Given the description of an element on the screen output the (x, y) to click on. 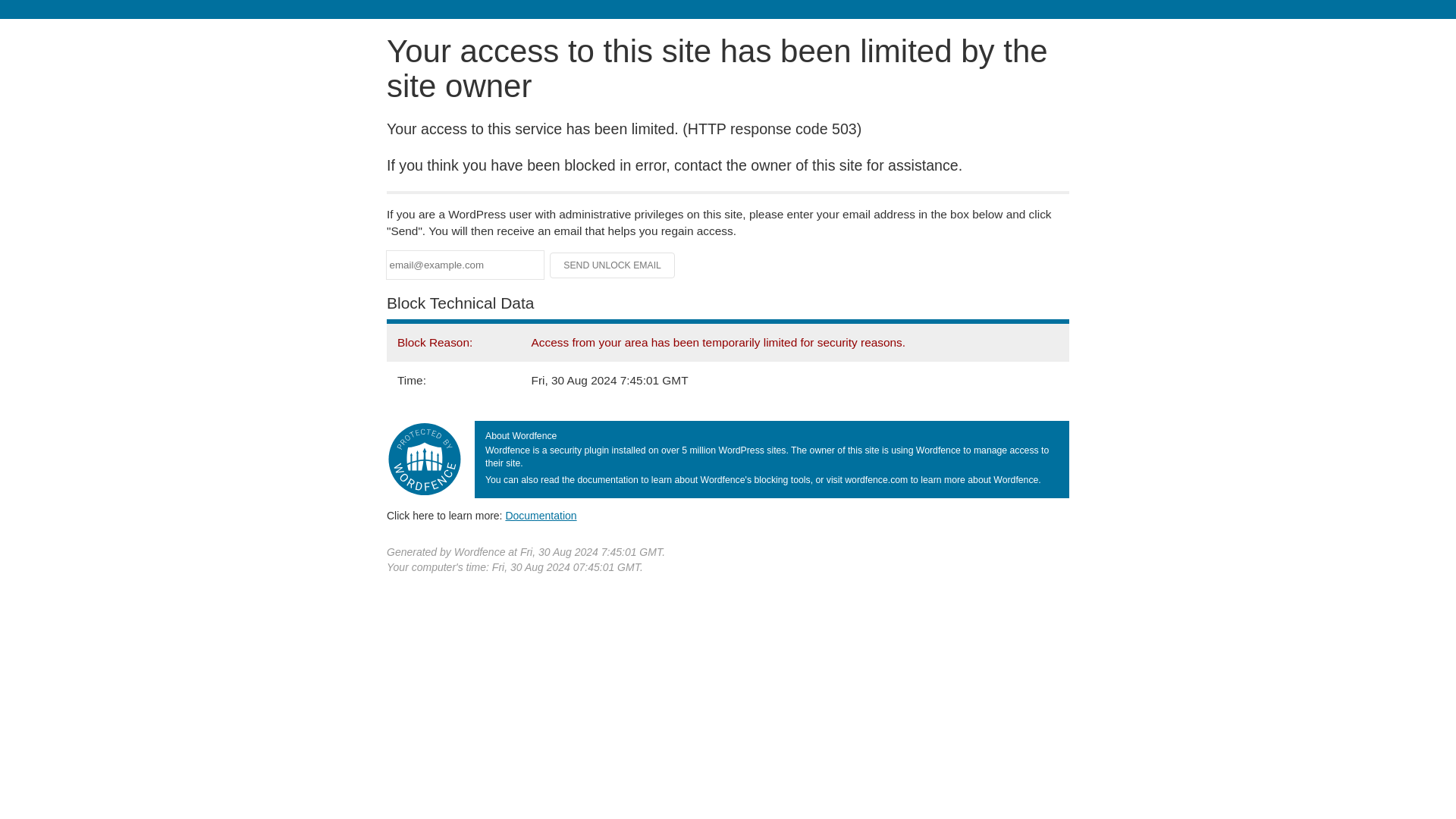
Send Unlock Email (612, 265)
Documentation (540, 515)
Send Unlock Email (612, 265)
